Given the description of an element on the screen output the (x, y) to click on. 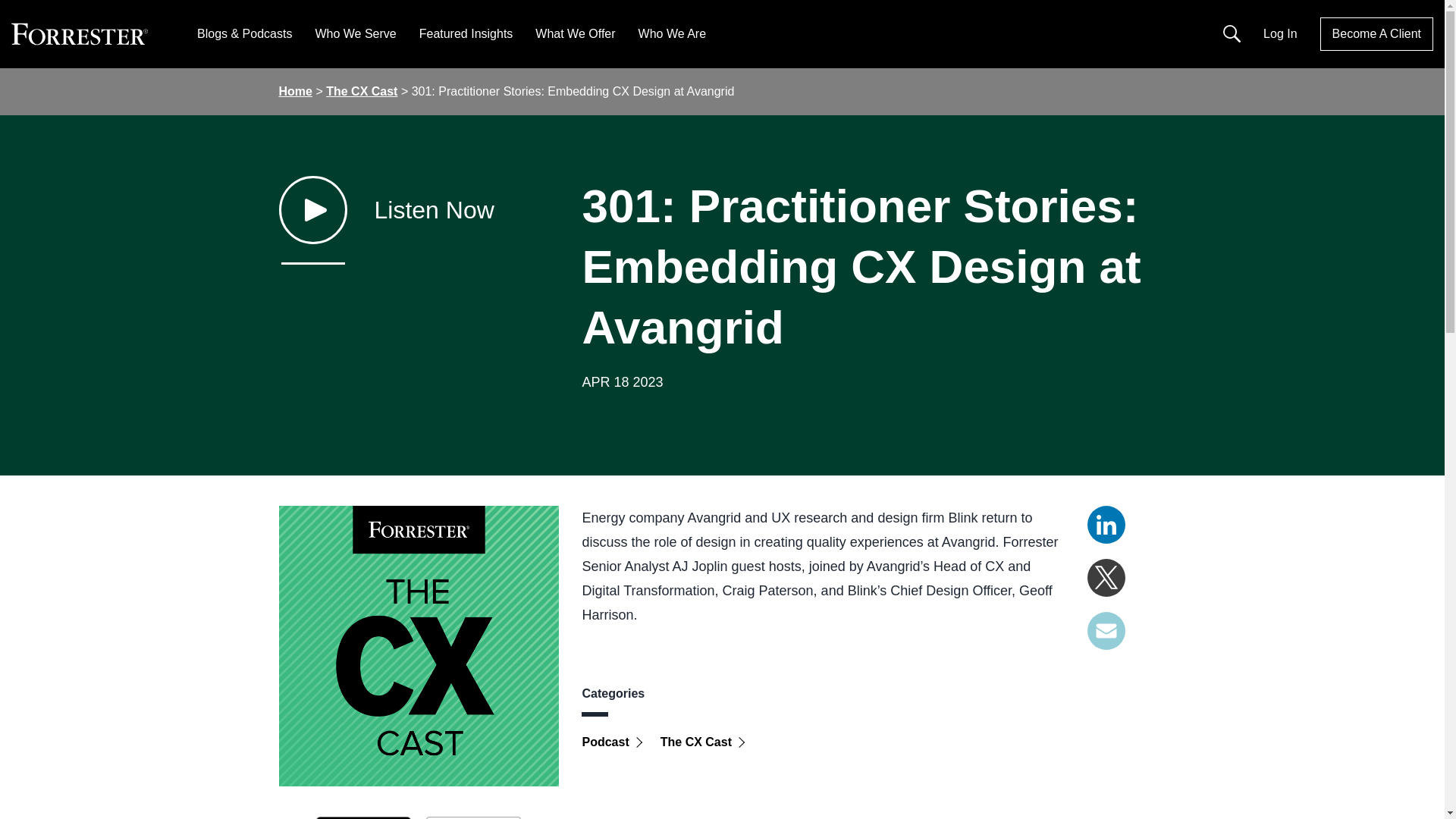
Who We Serve (355, 33)
What We Offer (574, 33)
Featured Insights (466, 33)
